Given the description of an element on the screen output the (x, y) to click on. 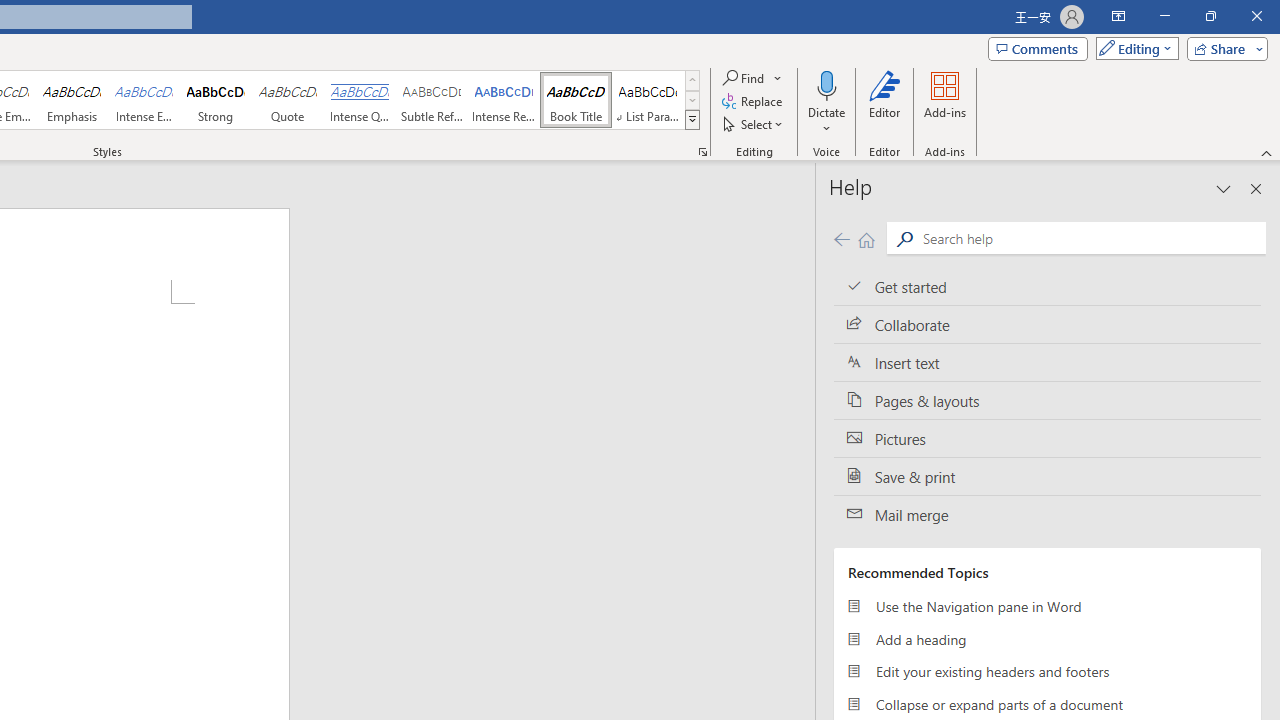
Edit your existing headers and footers (1047, 672)
Mail merge (1047, 515)
Book Title (575, 100)
Previous page (841, 238)
